Given the description of an element on the screen output the (x, y) to click on. 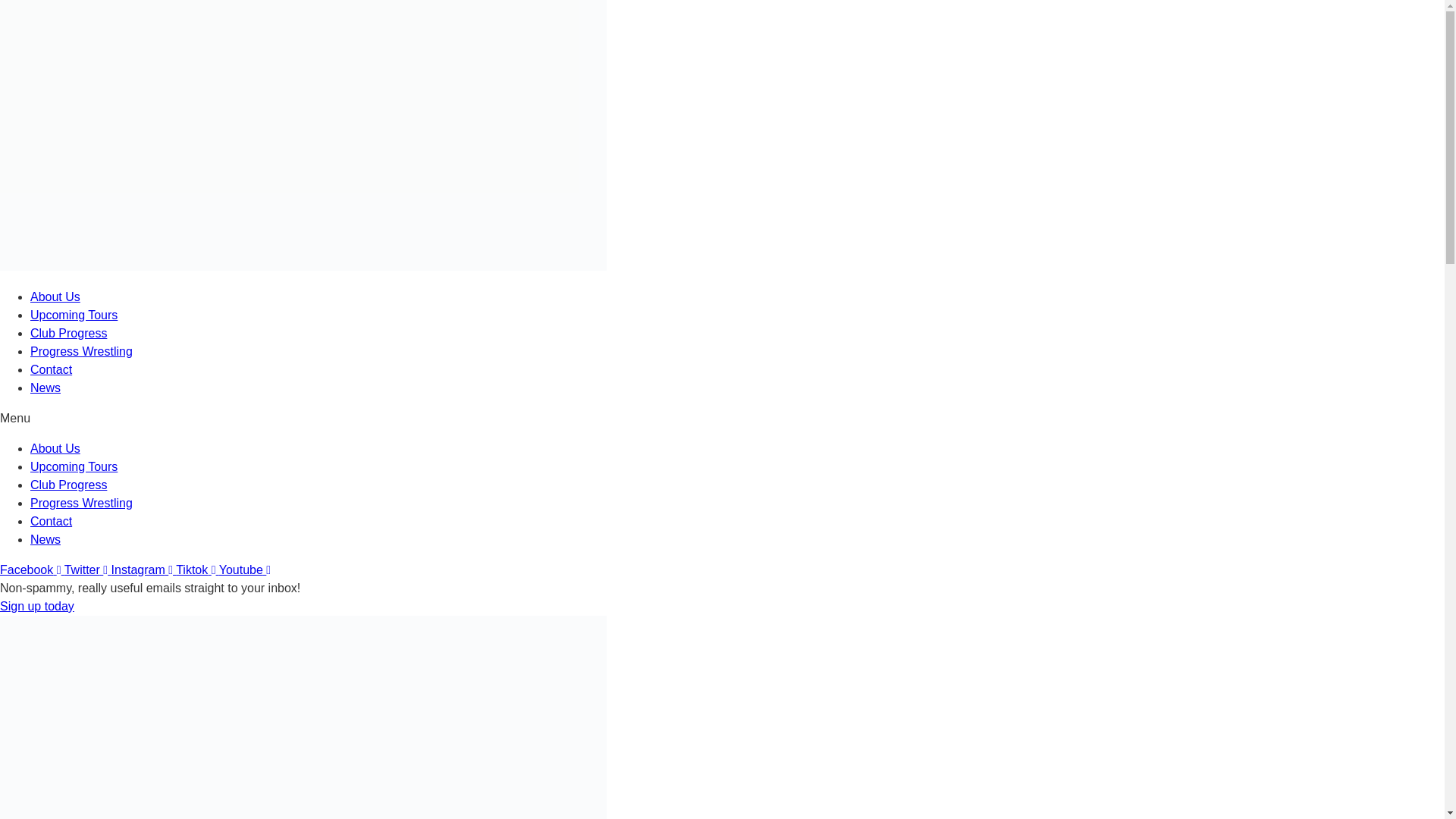
Contact (50, 369)
About Us (55, 296)
Tiktok (197, 569)
Progress Wrestling (81, 502)
About Us (55, 448)
Contact (50, 521)
Instagram (144, 569)
Twitter (88, 569)
Upcoming Tours (73, 466)
Upcoming Tours (73, 314)
